Given the description of an element on the screen output the (x, y) to click on. 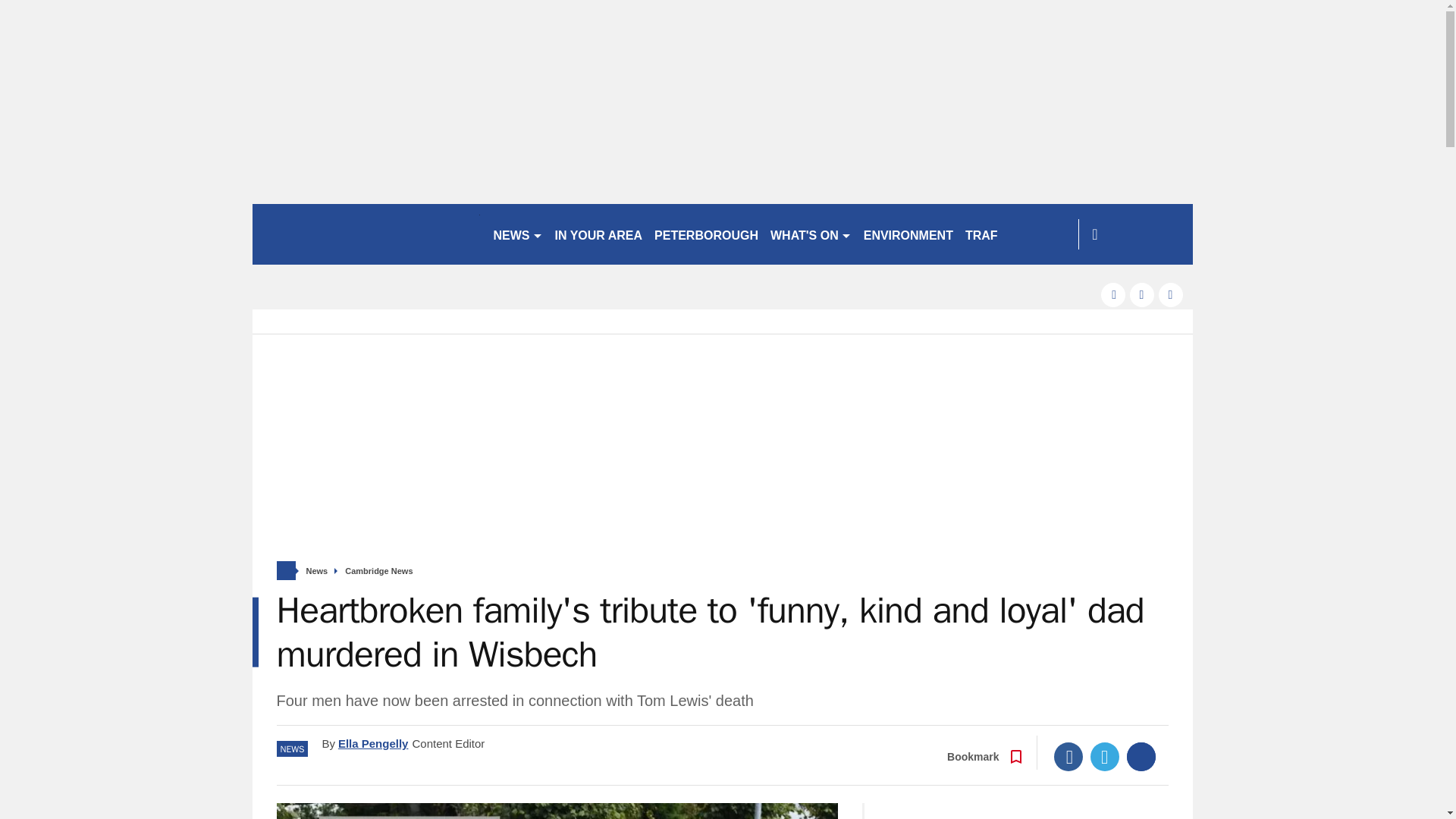
PETERBOROUGH (705, 233)
ENVIRONMENT (908, 233)
IN YOUR AREA (598, 233)
WHAT'S ON (810, 233)
Twitter (1104, 756)
instagram (1170, 294)
cambridgenews (365, 233)
NEWS (517, 233)
Facebook (1068, 756)
twitter (1141, 294)
